Given the description of an element on the screen output the (x, y) to click on. 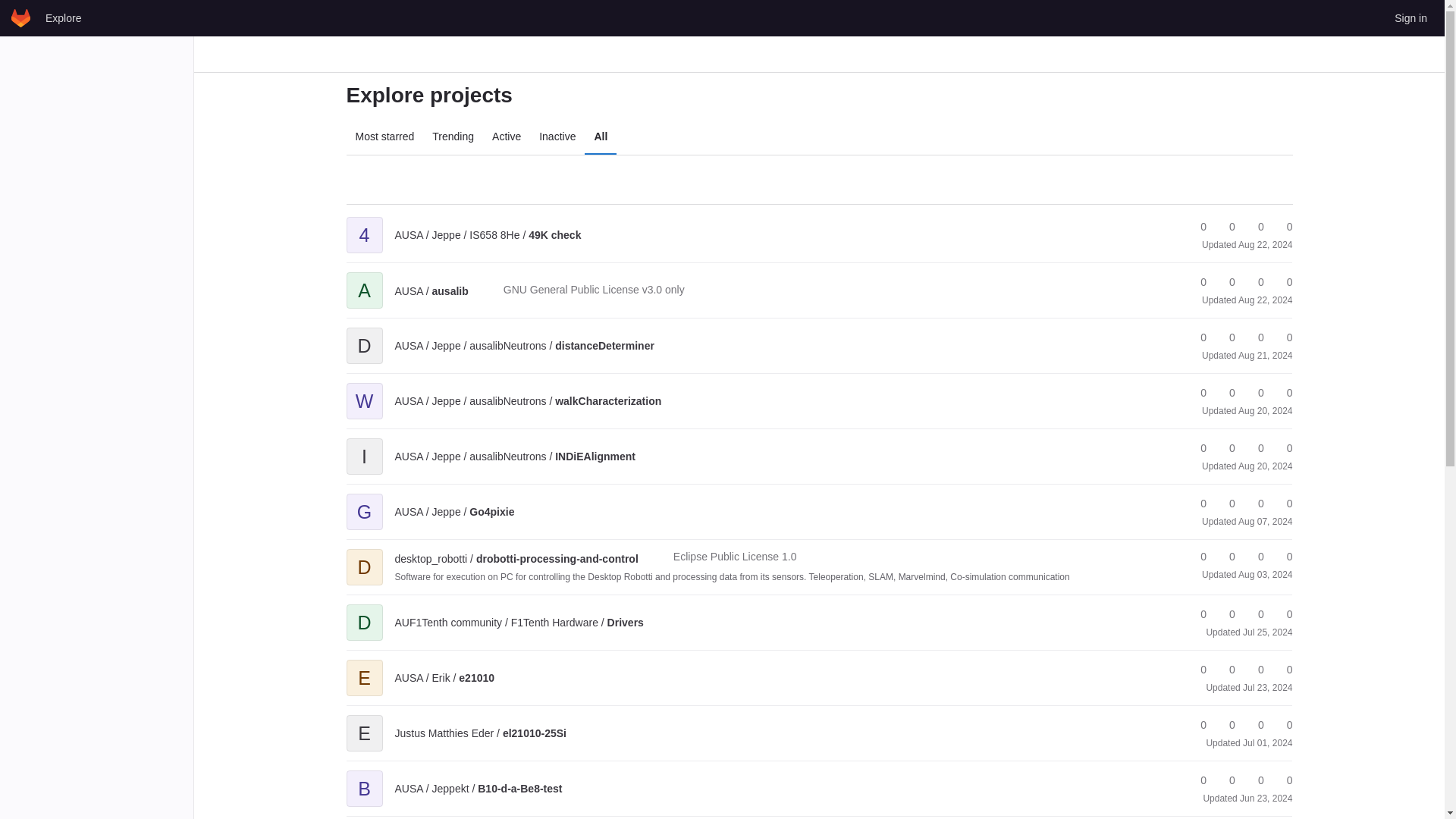
A (363, 279)
0 (1253, 337)
Aug 22, 2024 11:37am (1265, 299)
0 (1282, 392)
Issues (1282, 282)
Inactive (557, 135)
0 (1224, 227)
0 (1282, 337)
0 (1253, 227)
Forks (1224, 282)
